Given the description of an element on the screen output the (x, y) to click on. 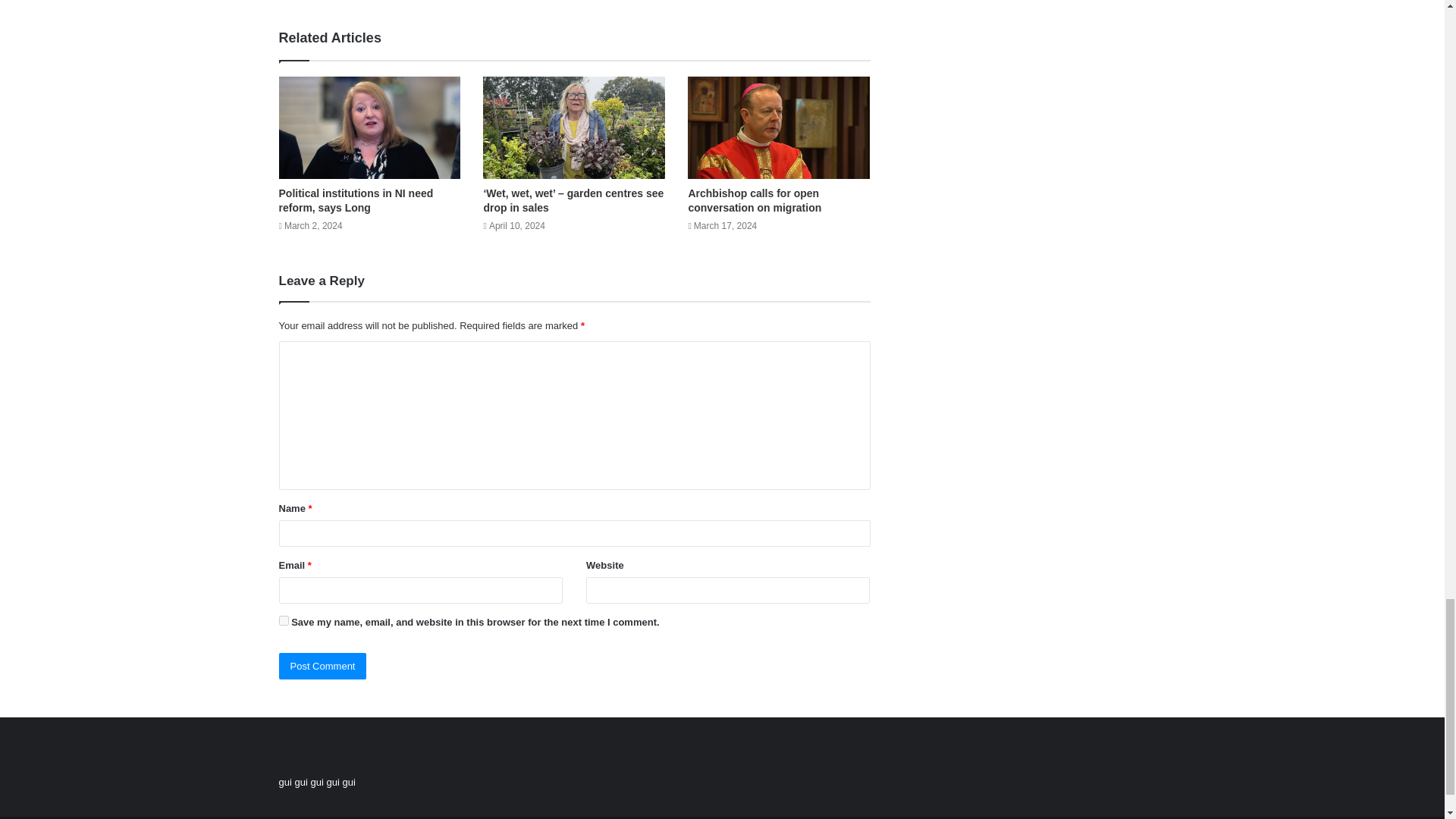
yes (283, 620)
Post Comment (322, 665)
